Given the description of an element on the screen output the (x, y) to click on. 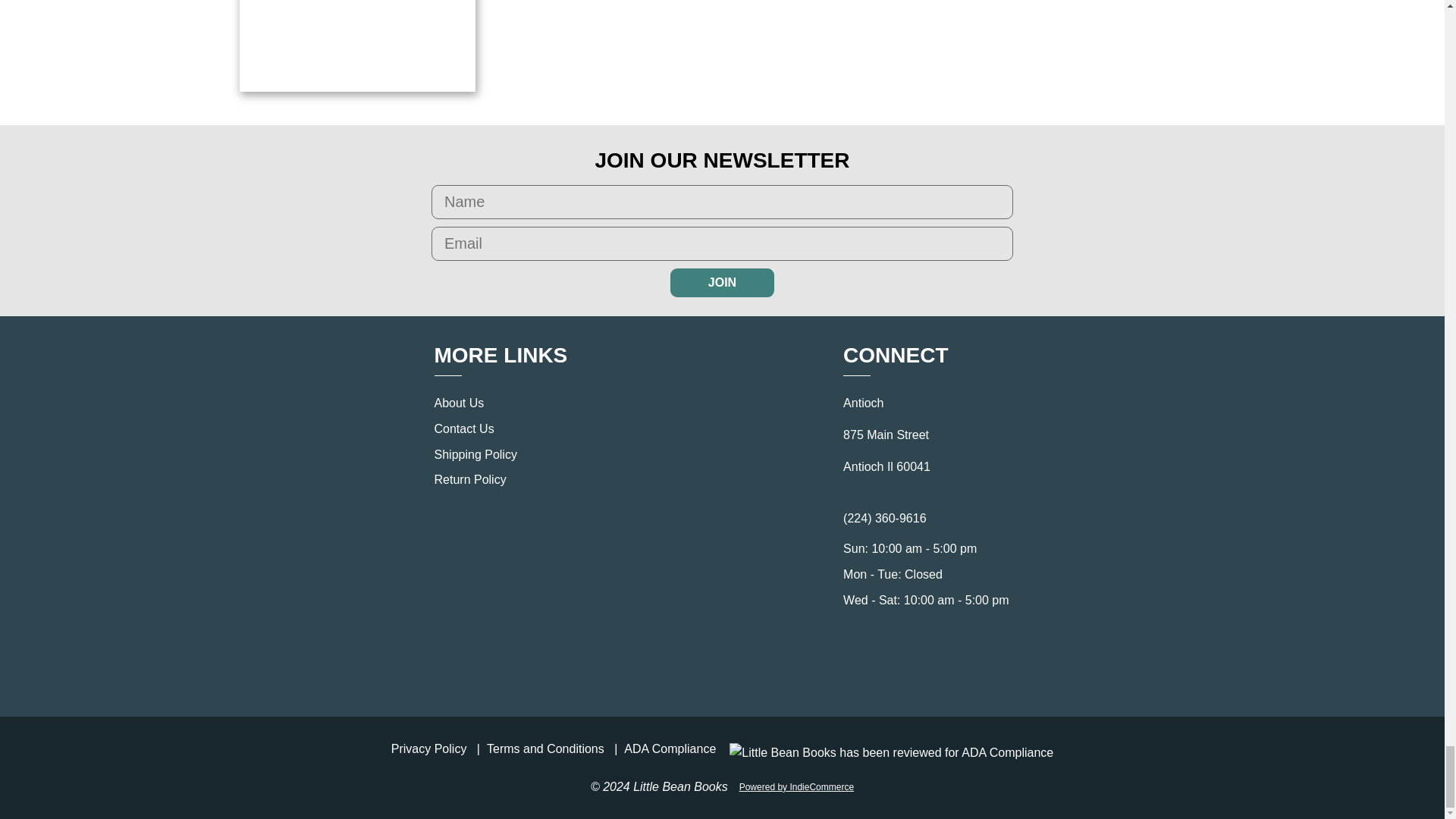
Join (721, 282)
Connect with Facebook (909, 663)
Connect with Instagram (943, 663)
